Given the description of an element on the screen output the (x, y) to click on. 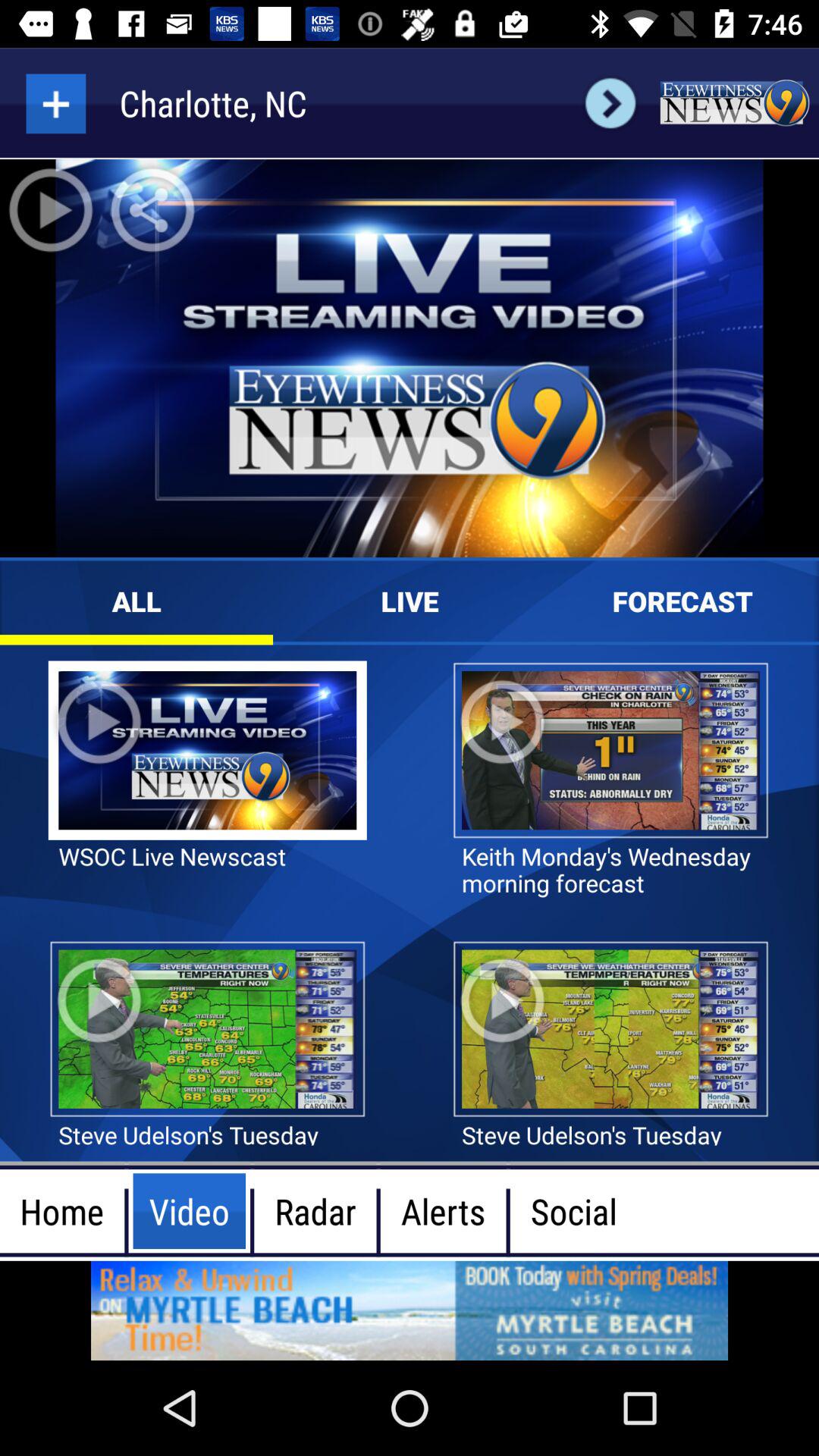
next button (610, 103)
